Given the description of an element on the screen output the (x, y) to click on. 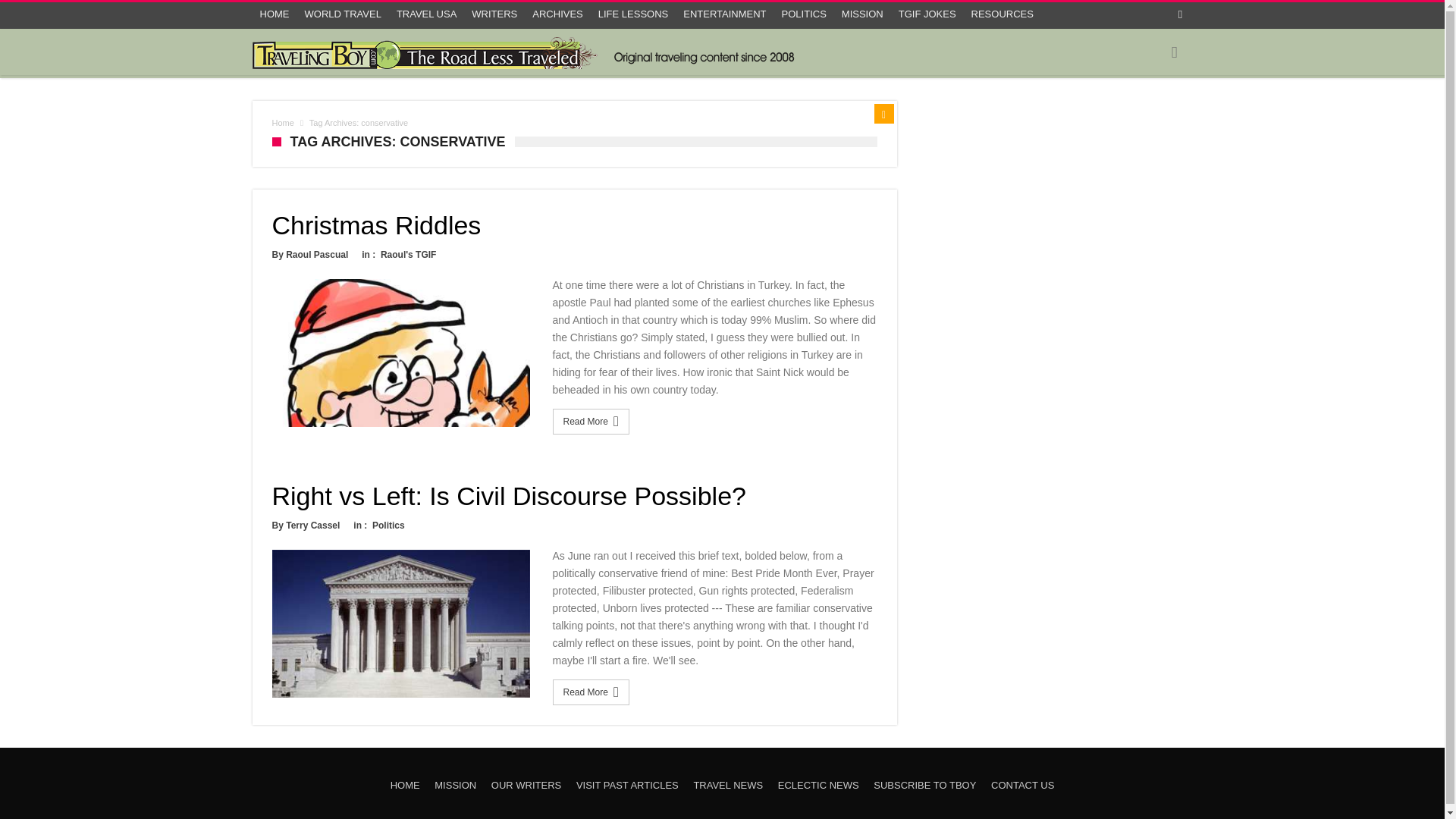
Posts by Raoul Pascual (316, 254)
Traveling Boy (527, 52)
Facebook (1179, 15)
Posts by Terry Cassel (312, 525)
